Given the description of an element on the screen output the (x, y) to click on. 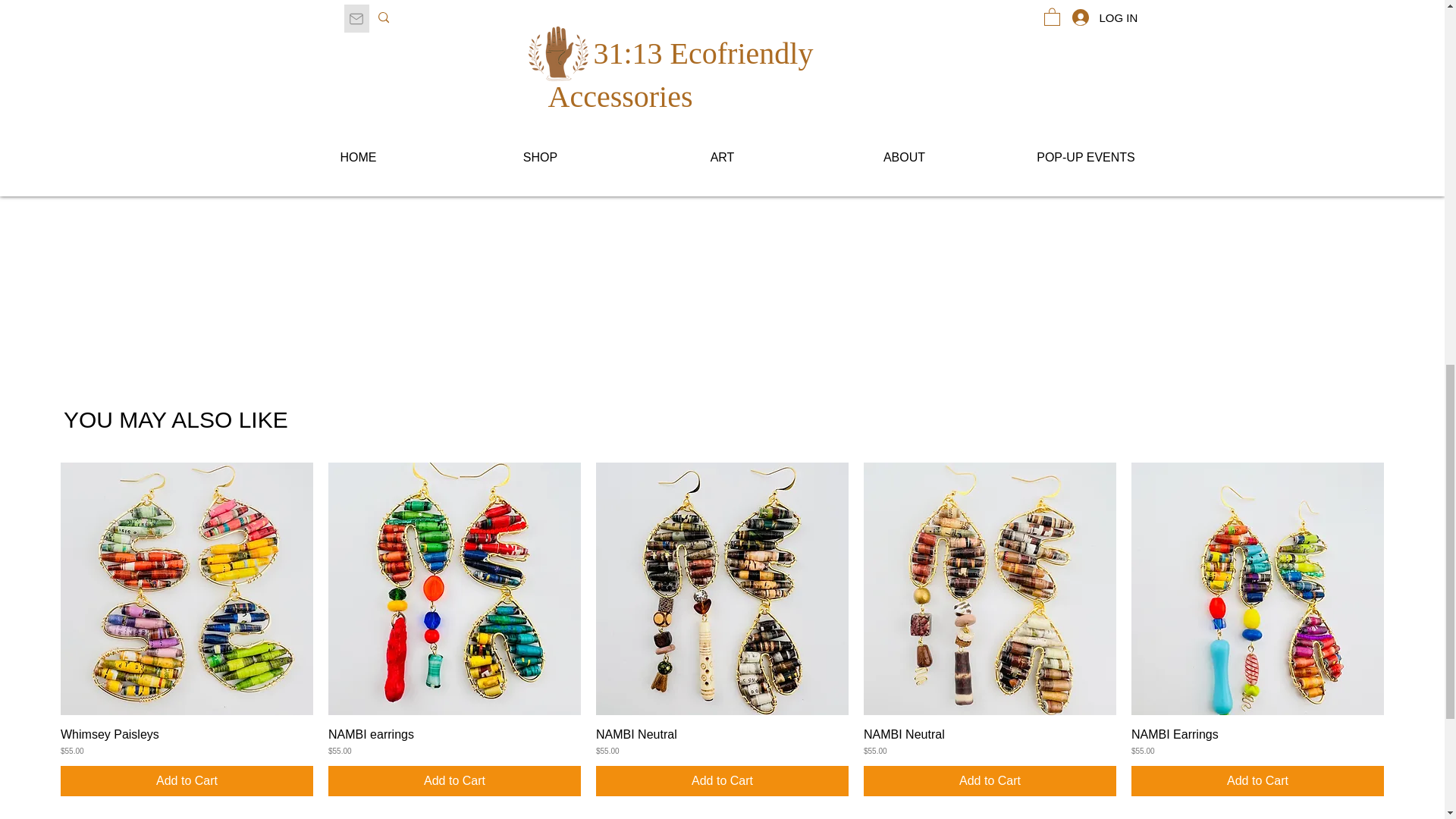
Add to Cart (989, 780)
Add to Cart (721, 780)
Add to Cart (454, 780)
Add to Cart (1257, 780)
Add to Cart (187, 780)
